Given the description of an element on the screen output the (x, y) to click on. 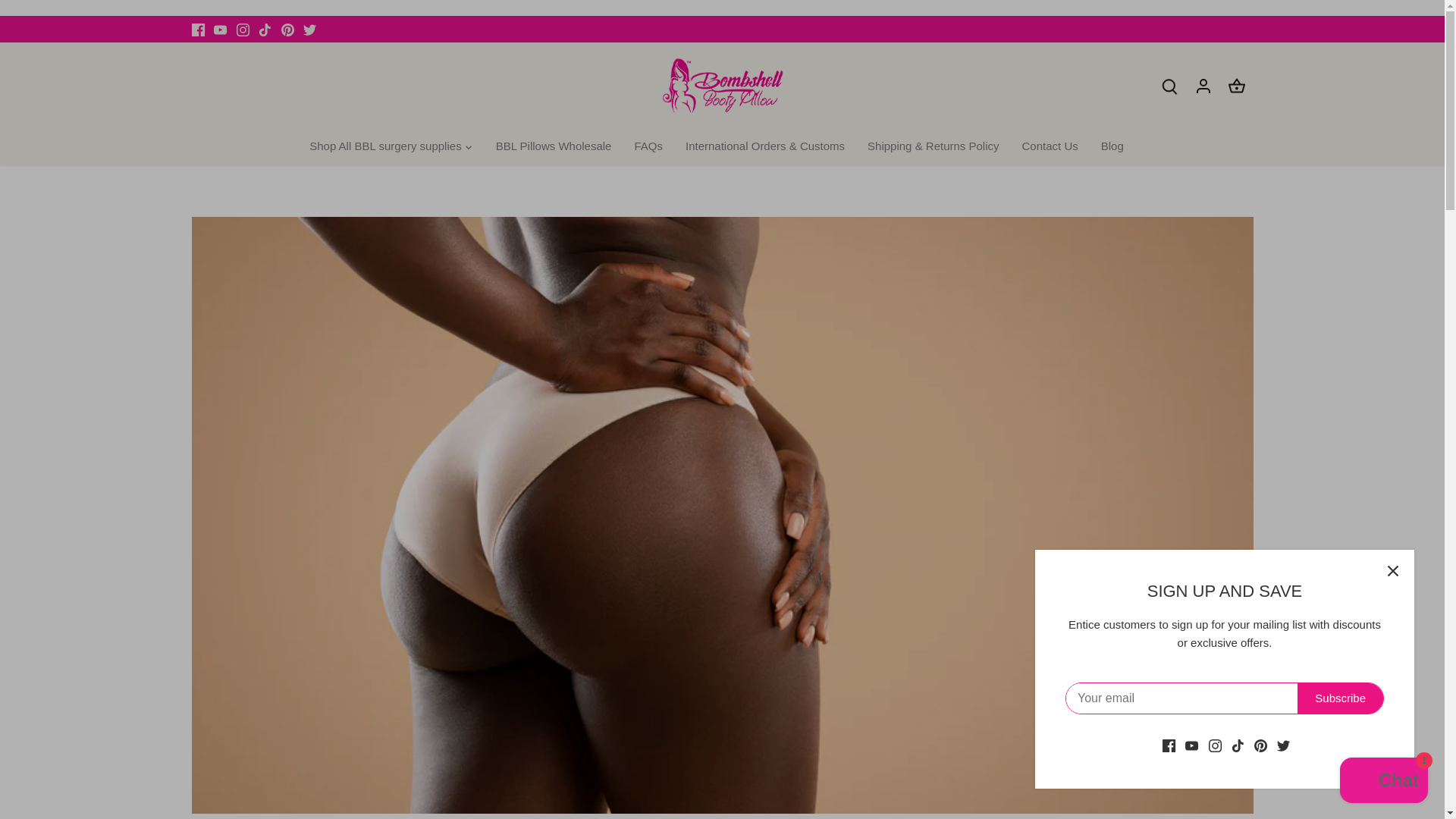
Contact Us (1049, 146)
Twitter (308, 28)
BBL Pillows Wholesale (553, 146)
Instagram (241, 29)
Pinterest (287, 28)
FAQs (648, 146)
Shopify online store chat (1383, 781)
Facebook (196, 28)
Facebook (196, 29)
Twitter (308, 29)
Youtube (220, 29)
Go to cart (1236, 85)
Shop All BBL surgery supplies (389, 146)
Instagram (241, 28)
